Given the description of an element on the screen output the (x, y) to click on. 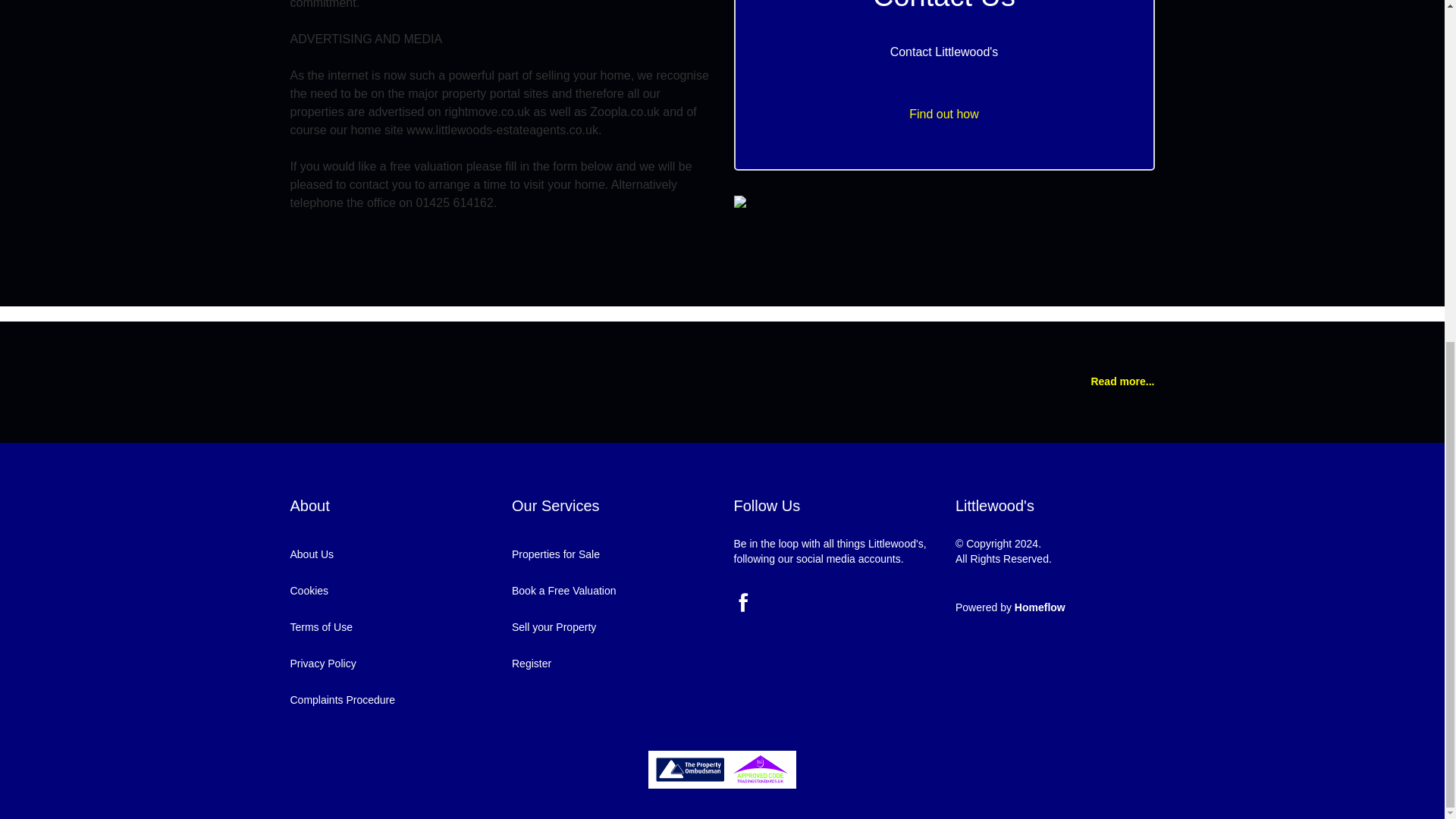
Read more... (1122, 381)
Terms of Use (320, 626)
Properties for Sale (555, 553)
Book a Free Valuation (563, 590)
Powered by Homeflow (1010, 607)
Complaints Procedure (341, 699)
About Us (311, 553)
Privacy Policy (322, 663)
Sell your Property (553, 626)
Register (531, 663)
